Given the description of an element on the screen output the (x, y) to click on. 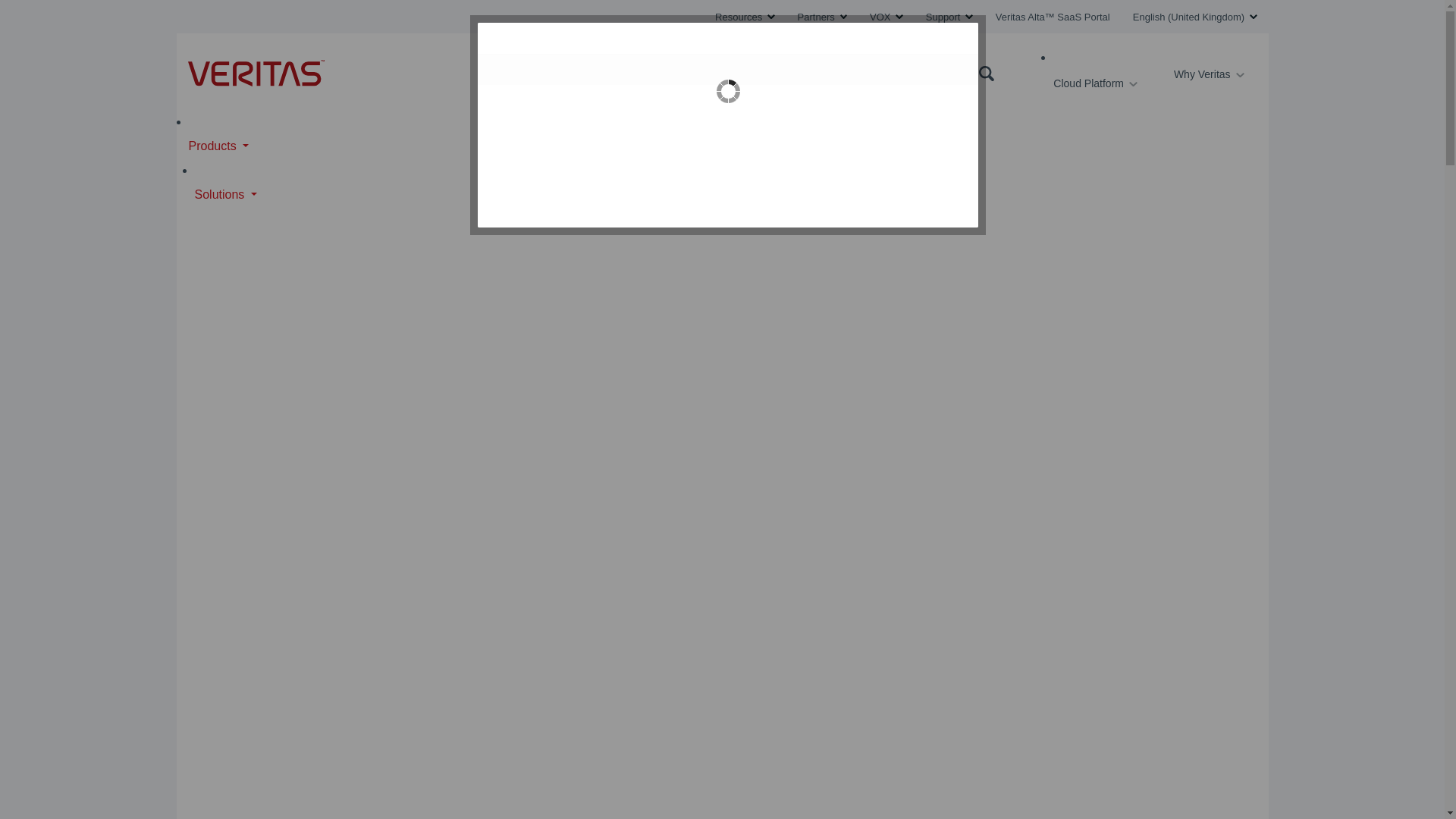
Resources (744, 16)
Support (949, 16)
Partners (822, 16)
TrustArc Cookie Consent Manager (727, 124)
VOX (885, 16)
